Given the description of an element on the screen output the (x, y) to click on. 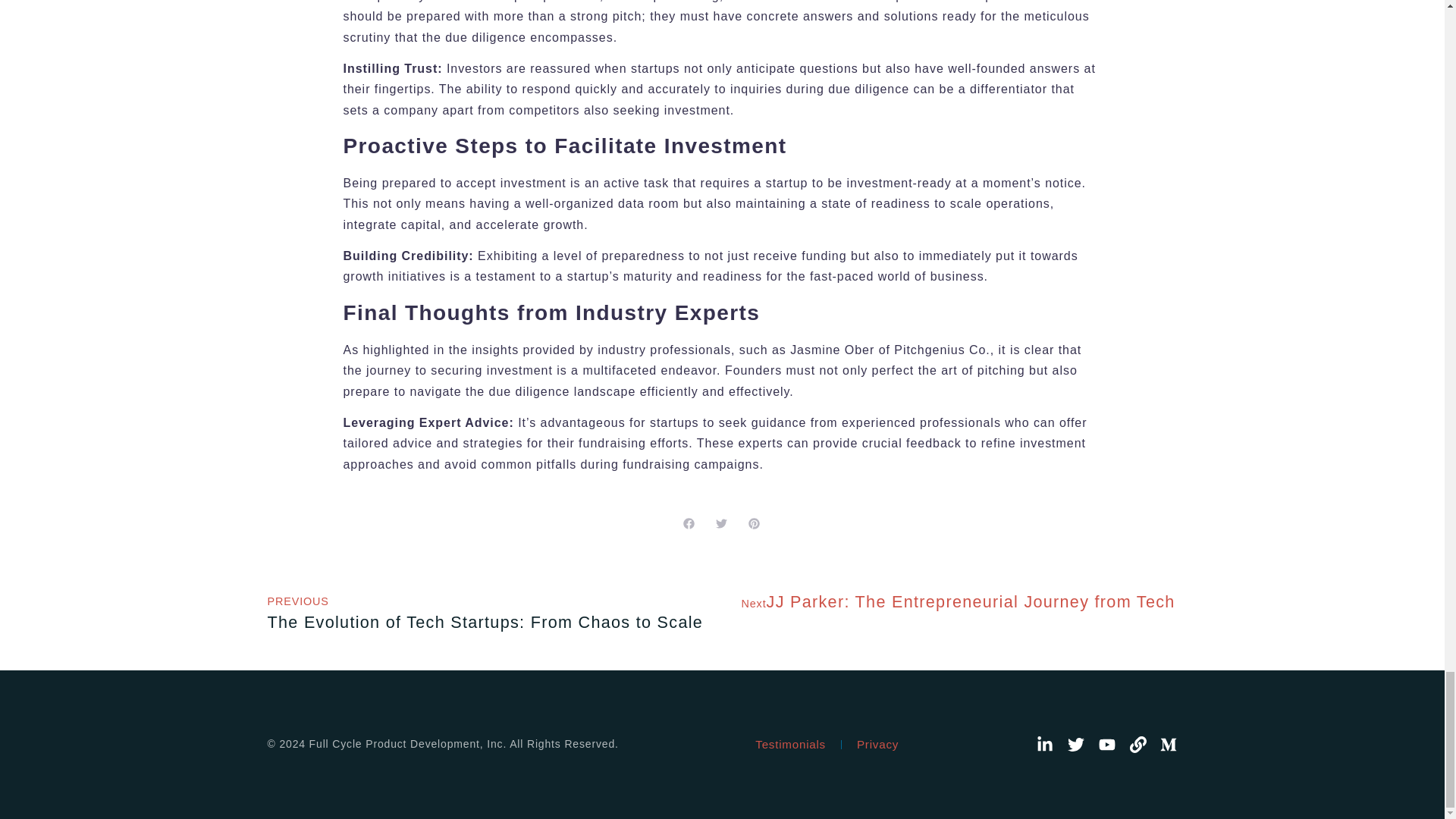
Privacy (877, 744)
Testimonials (484, 611)
